Given the description of an element on the screen output the (x, y) to click on. 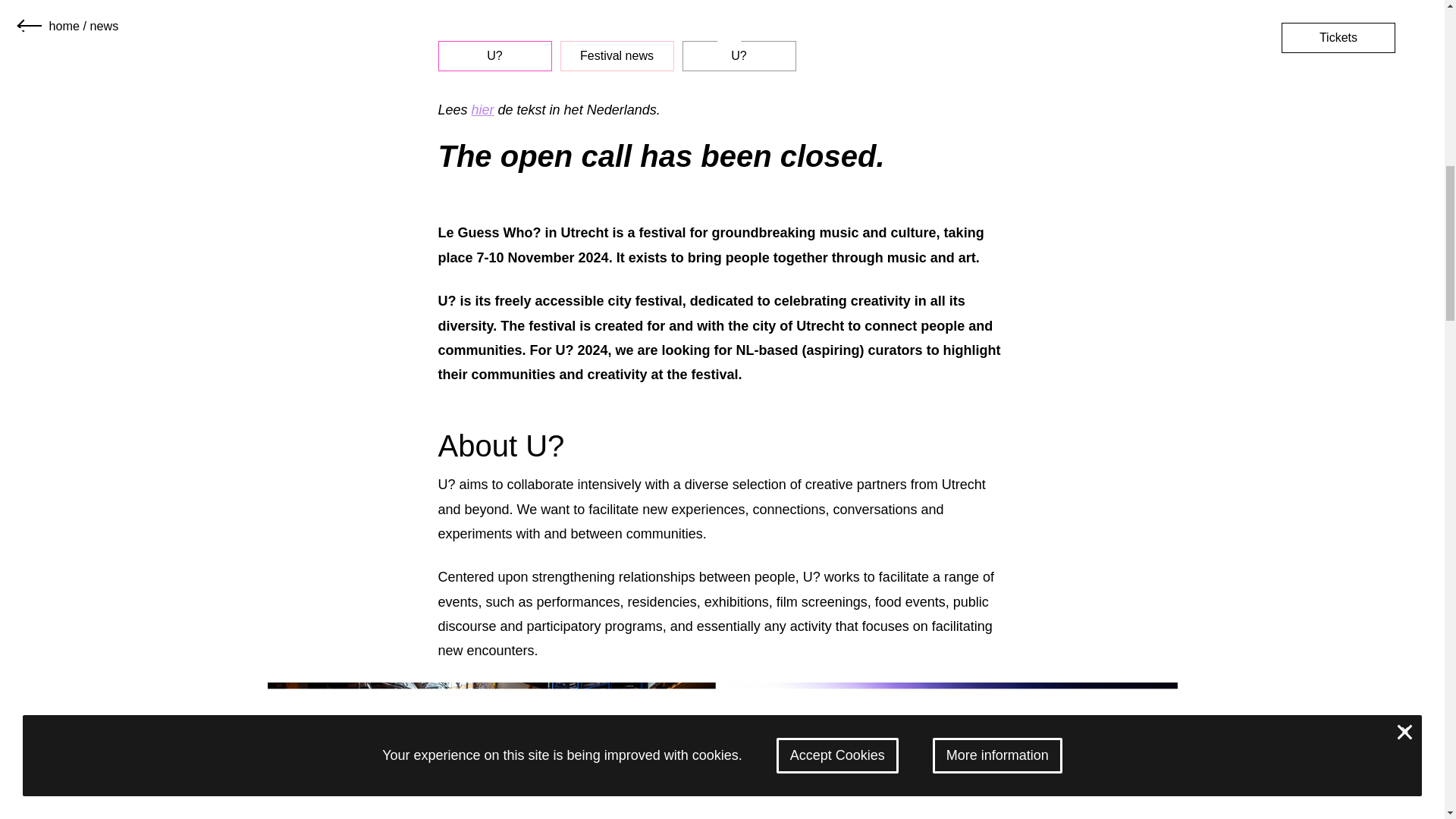
U? (494, 55)
news (102, 25)
hier (483, 109)
U? (739, 55)
home (64, 25)
Festival news (617, 55)
